Given the description of an element on the screen output the (x, y) to click on. 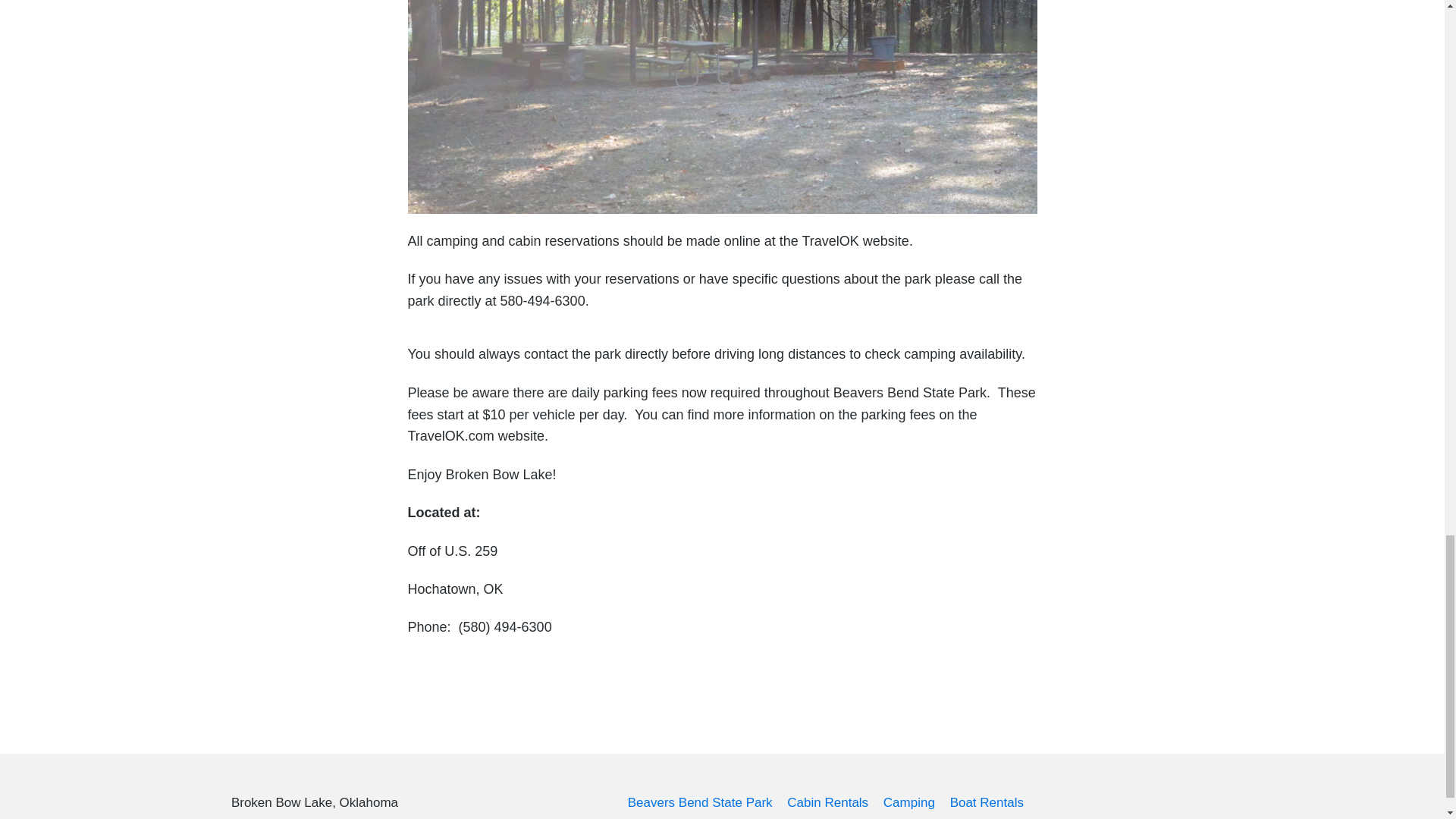
Beavers Bend State Park (700, 802)
Camping (908, 802)
Cabin Rentals (827, 802)
Boat Rentals (986, 802)
